Given the description of an element on the screen output the (x, y) to click on. 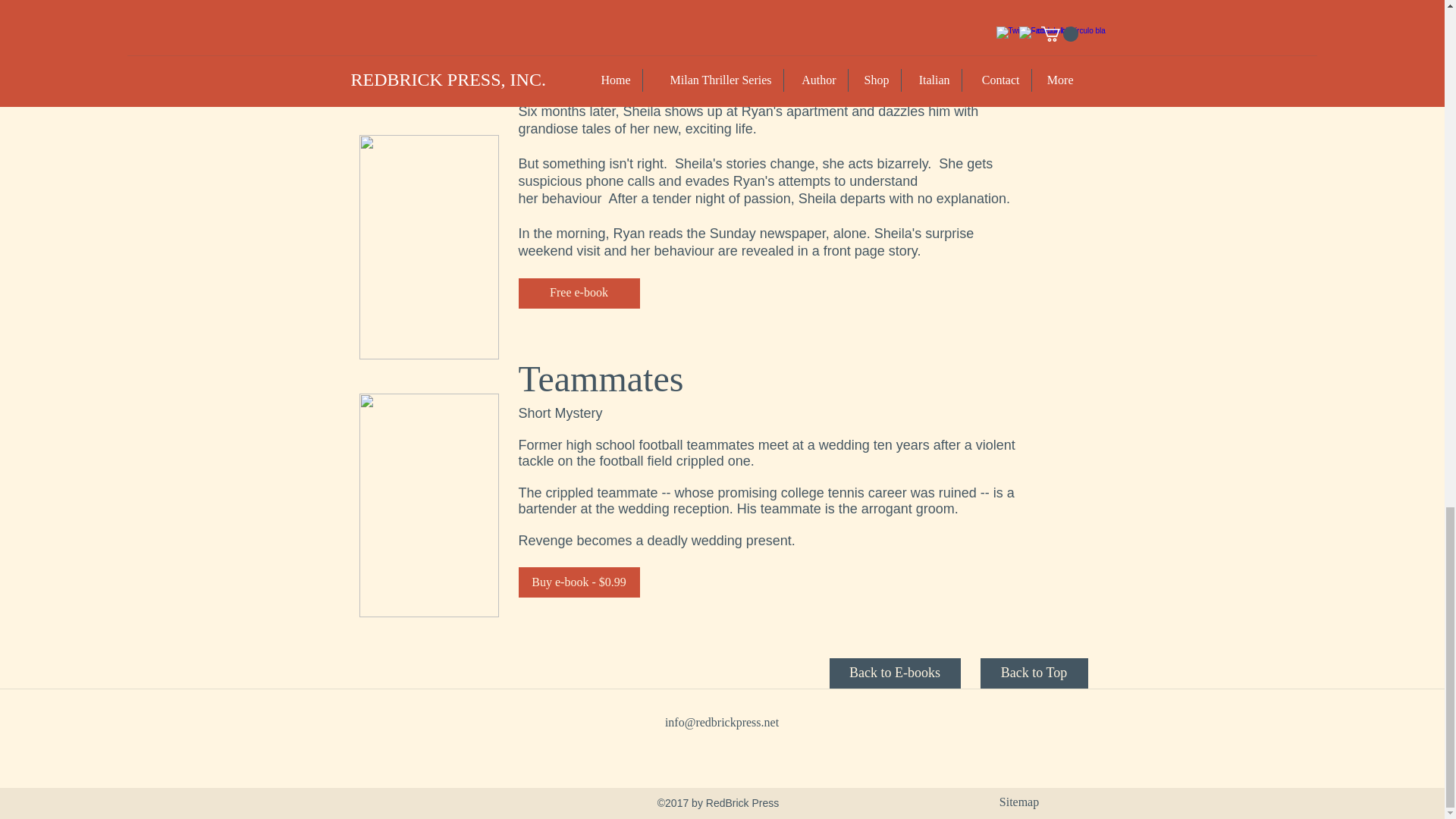
Free e-book (579, 293)
Back to E-books (894, 673)
Back to Top (1033, 673)
Sitemap (1018, 801)
